Given the description of an element on the screen output the (x, y) to click on. 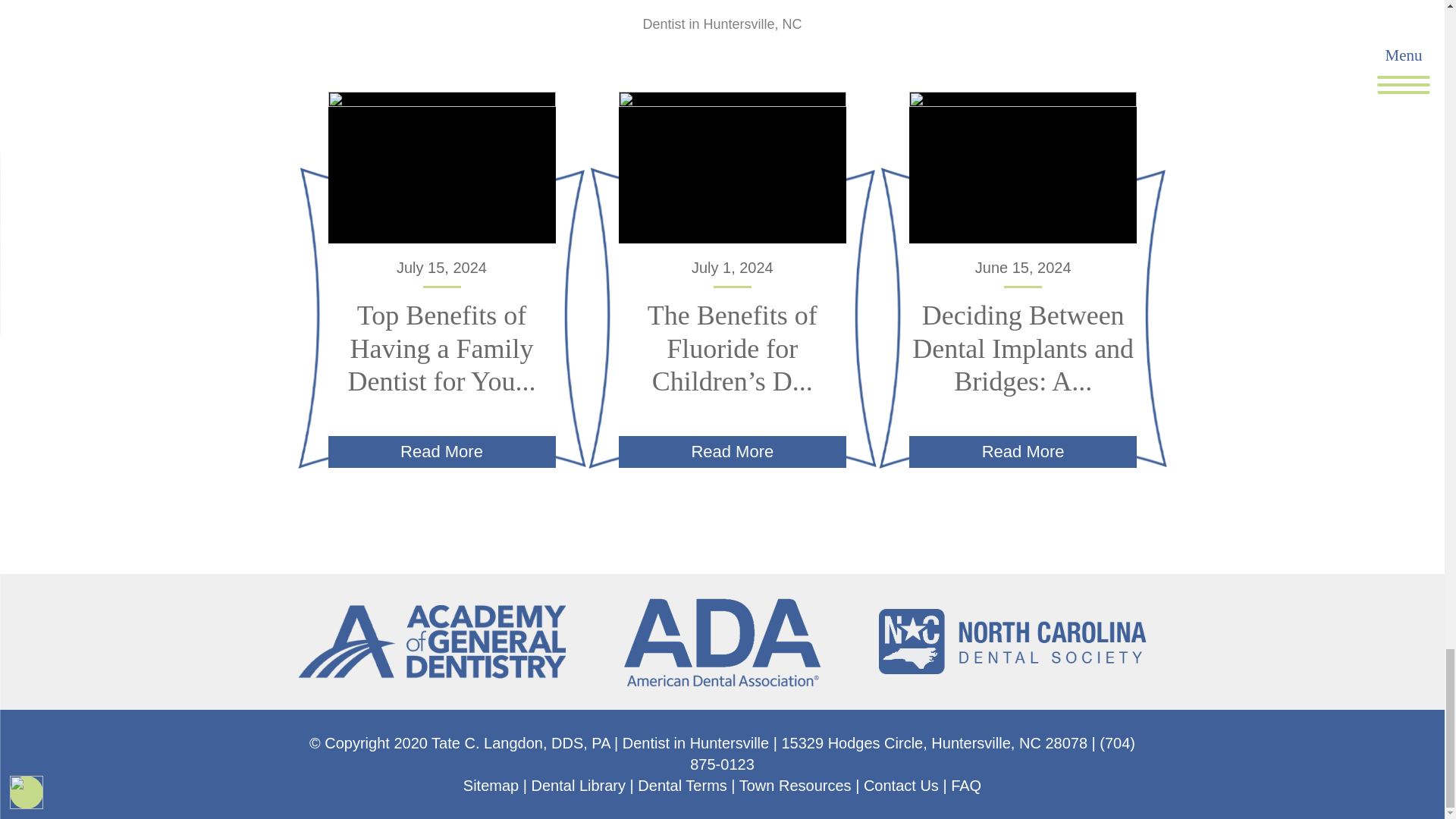
Town Resources (795, 785)
FAQ (965, 785)
Contact Us (901, 785)
Dental Terms (681, 785)
Deciding Between Dental Implants and Bridges: A... (1023, 347)
Top Benefits of Having a Family Dentist for You... (441, 347)
Sitemap (490, 785)
15329 Hodges Circle, Huntersville, NC 28078 (933, 742)
Read More (731, 451)
Dental Library (578, 785)
Read More (440, 451)
Read More (1022, 451)
